Given the description of an element on the screen output the (x, y) to click on. 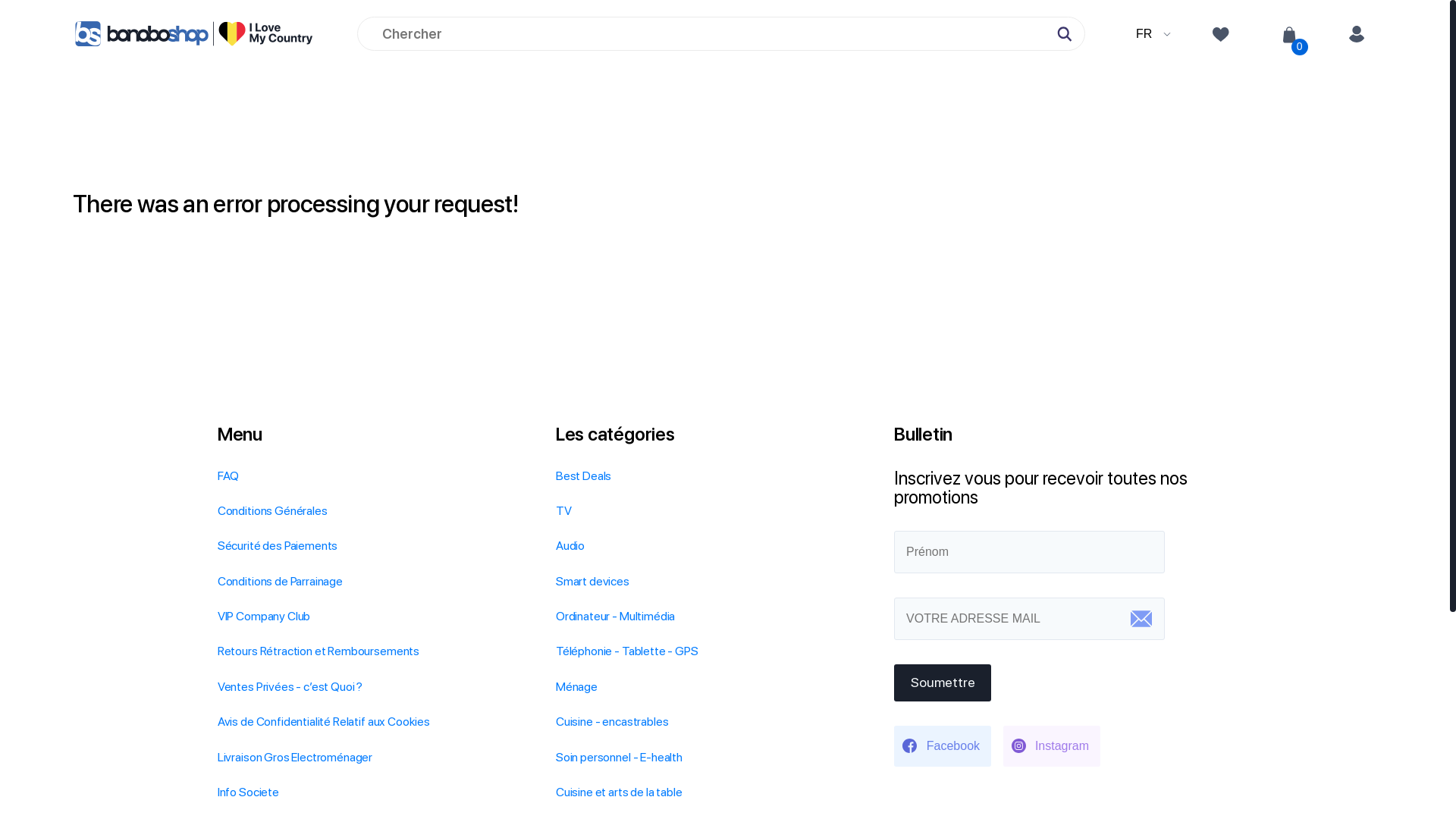
0 Element type: text (1289, 33)
VIP Company Club Element type: text (263, 615)
TV Element type: text (563, 510)
Instagram Element type: text (1051, 745)
Cuisine et arts de la table Element type: text (618, 791)
Smart devices Element type: text (592, 581)
Conditions de Parrainage Element type: text (279, 581)
Cuisine - encastrables Element type: text (611, 721)
Info Societe Element type: text (248, 791)
Audio Element type: text (569, 545)
Soumettre Element type: text (942, 682)
Facebook Element type: text (942, 745)
Soin personnel - E-health Element type: text (618, 756)
FAQ Element type: text (228, 475)
Best Deals Element type: text (583, 475)
